Given the description of an element on the screen output the (x, y) to click on. 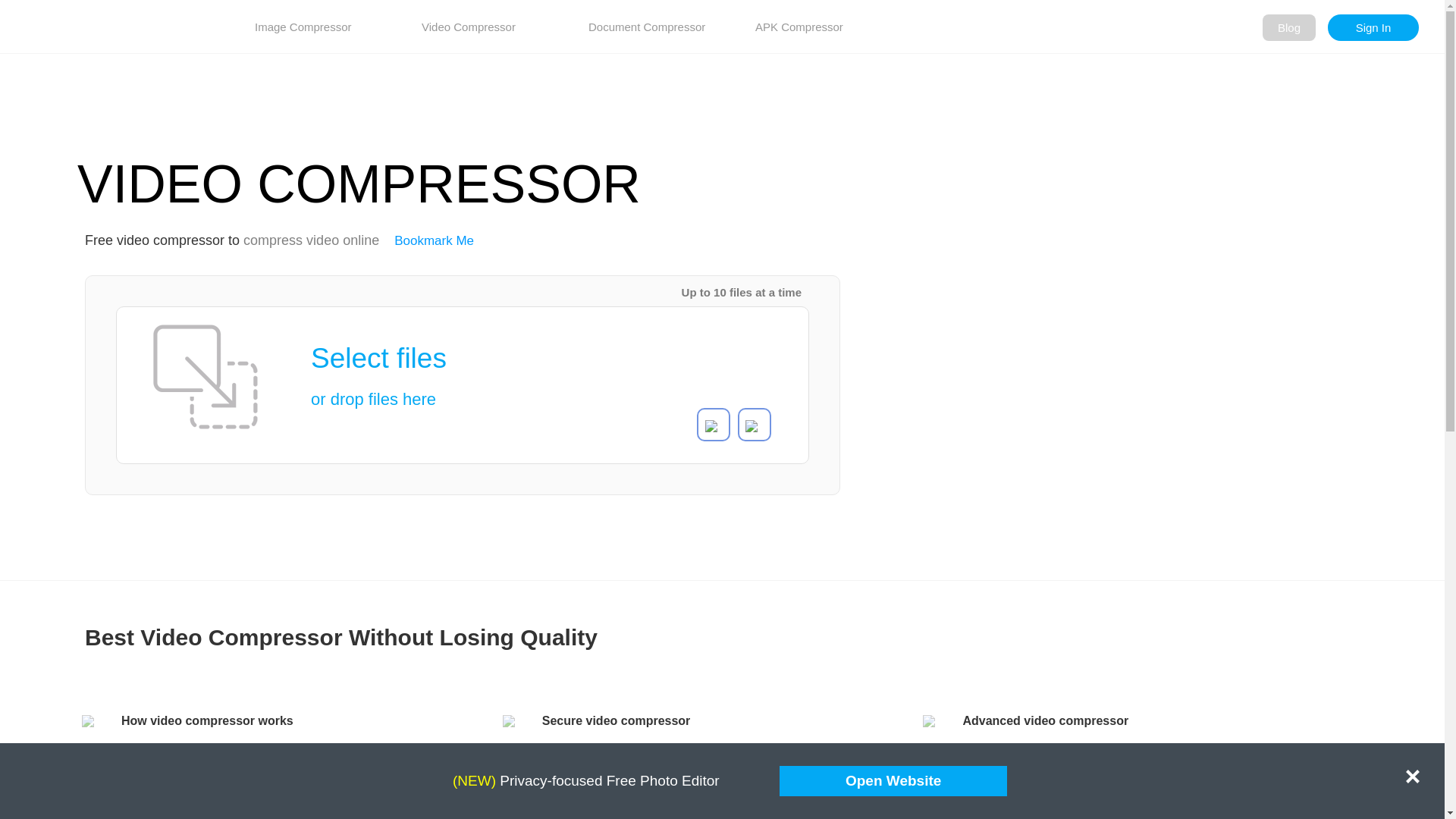
compress video online (310, 240)
Bookmark Me (434, 240)
